Given the description of an element on the screen output the (x, y) to click on. 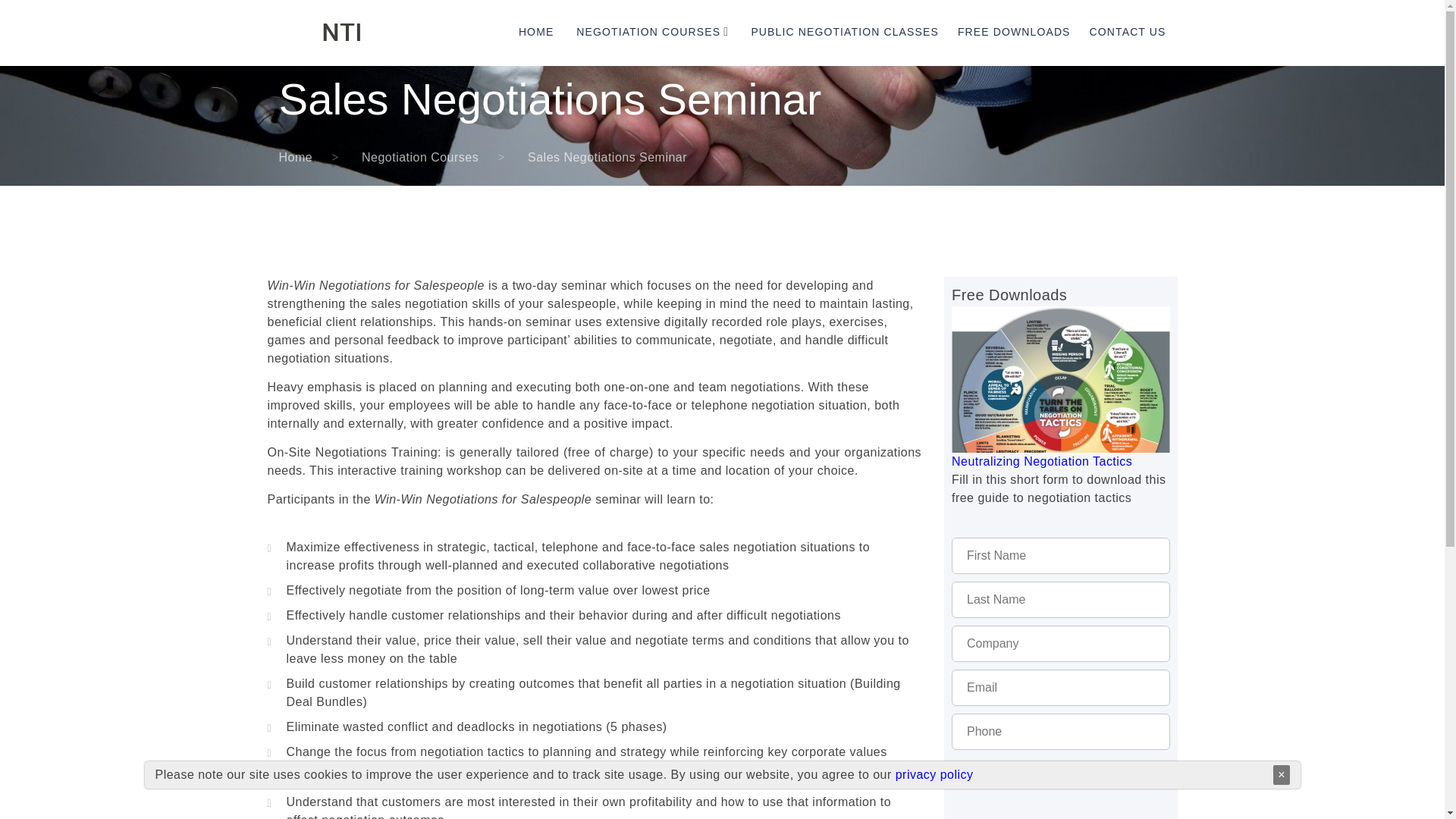
Home (296, 156)
NEGOTIATION COURSES (648, 31)
CONTACT US (1127, 31)
HOME (535, 31)
PUBLIC NEGOTIATION CLASSES (844, 31)
Negotiation Courses (420, 156)
Neutralizing Negotiation Tactics (1061, 419)
FREE DOWNLOADS (1014, 31)
privacy policy (934, 774)
